Given the description of an element on the screen output the (x, y) to click on. 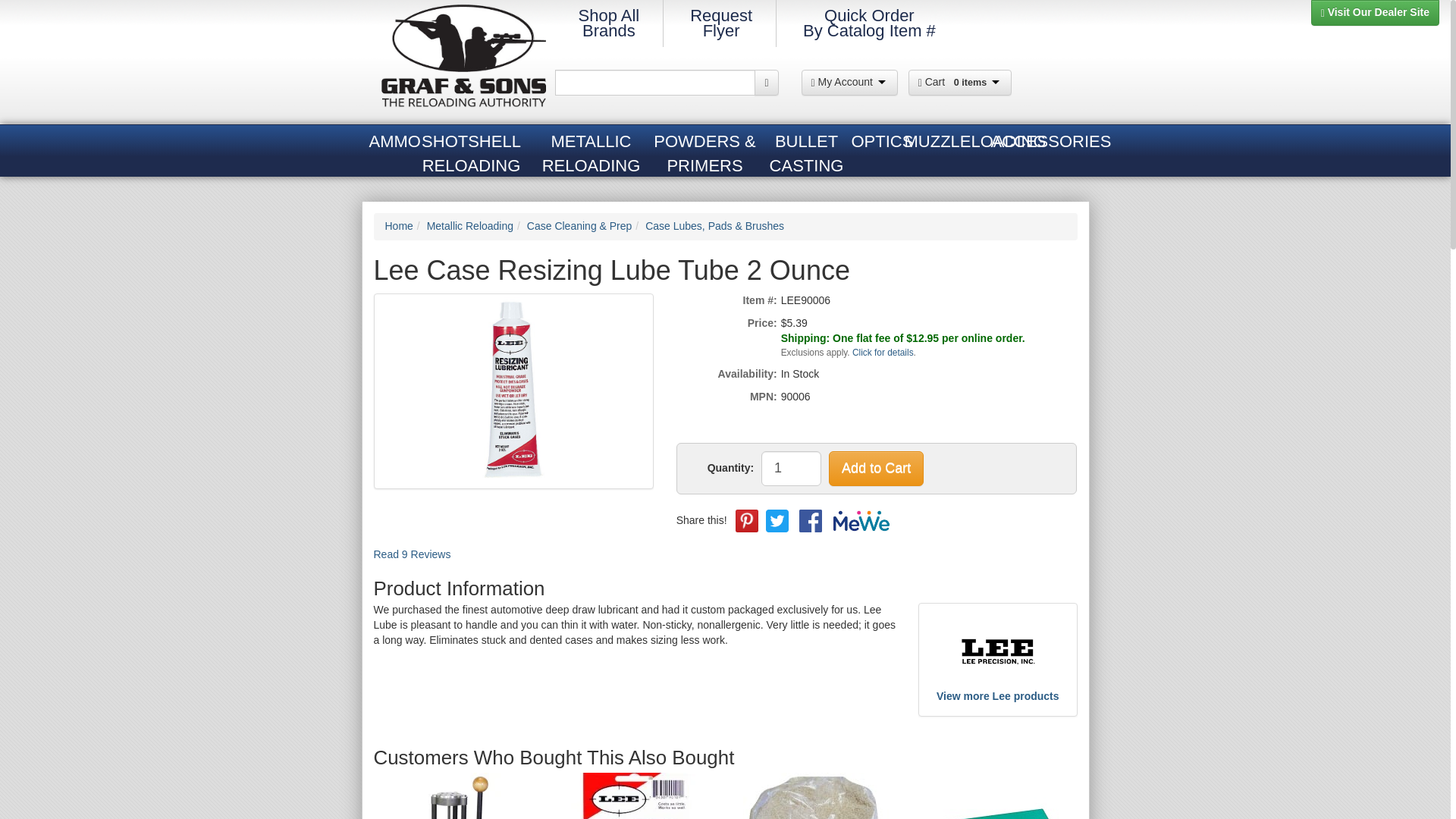
AMMO (387, 143)
Visit Our Dealer Site (1375, 12)
1 (791, 468)
Go (765, 82)
My Account (848, 82)
Cart   0 items (721, 23)
